Given the description of an element on the screen output the (x, y) to click on. 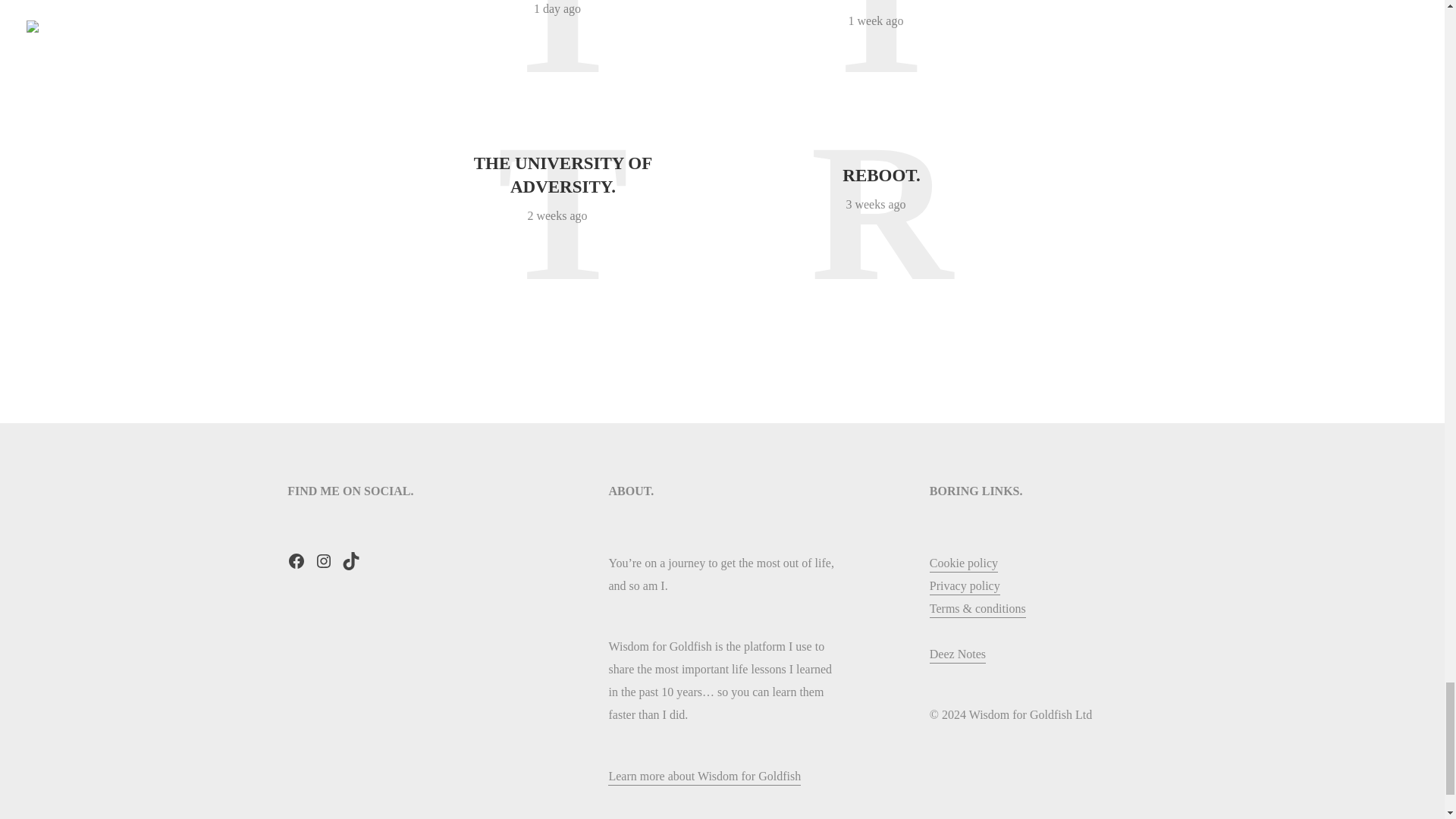
Facebook (295, 561)
Deez Notes (957, 655)
THE UNIVERSITY OF ADVERSITY. (562, 175)
Privacy policy (965, 587)
Instagram (323, 561)
Learn more about Wisdom for Goldfish (704, 777)
TikTok (350, 561)
THE POWER OF TRYING: NO SUCH THING AS FAILURE. (880, 2)
Cookie policy (963, 564)
REBOOT. (881, 175)
